Given the description of an element on the screen output the (x, y) to click on. 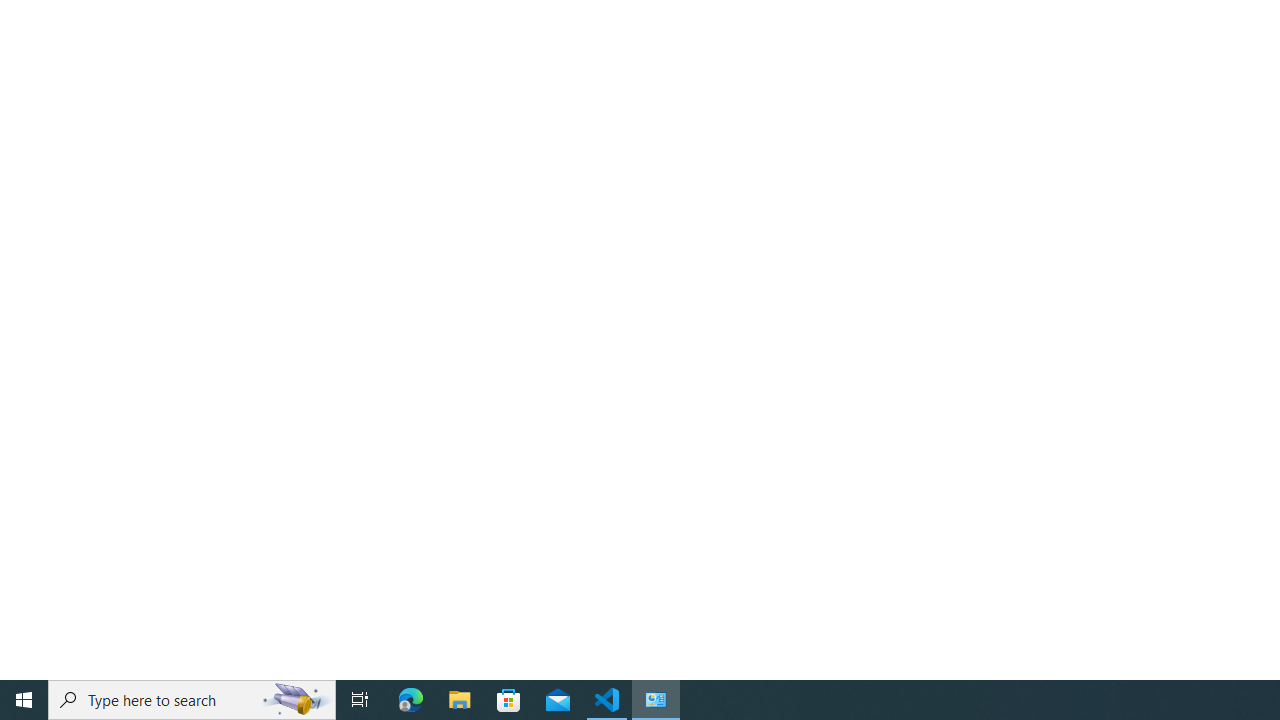
Control Panel - 1 running window (656, 699)
